Given the description of an element on the screen output the (x, y) to click on. 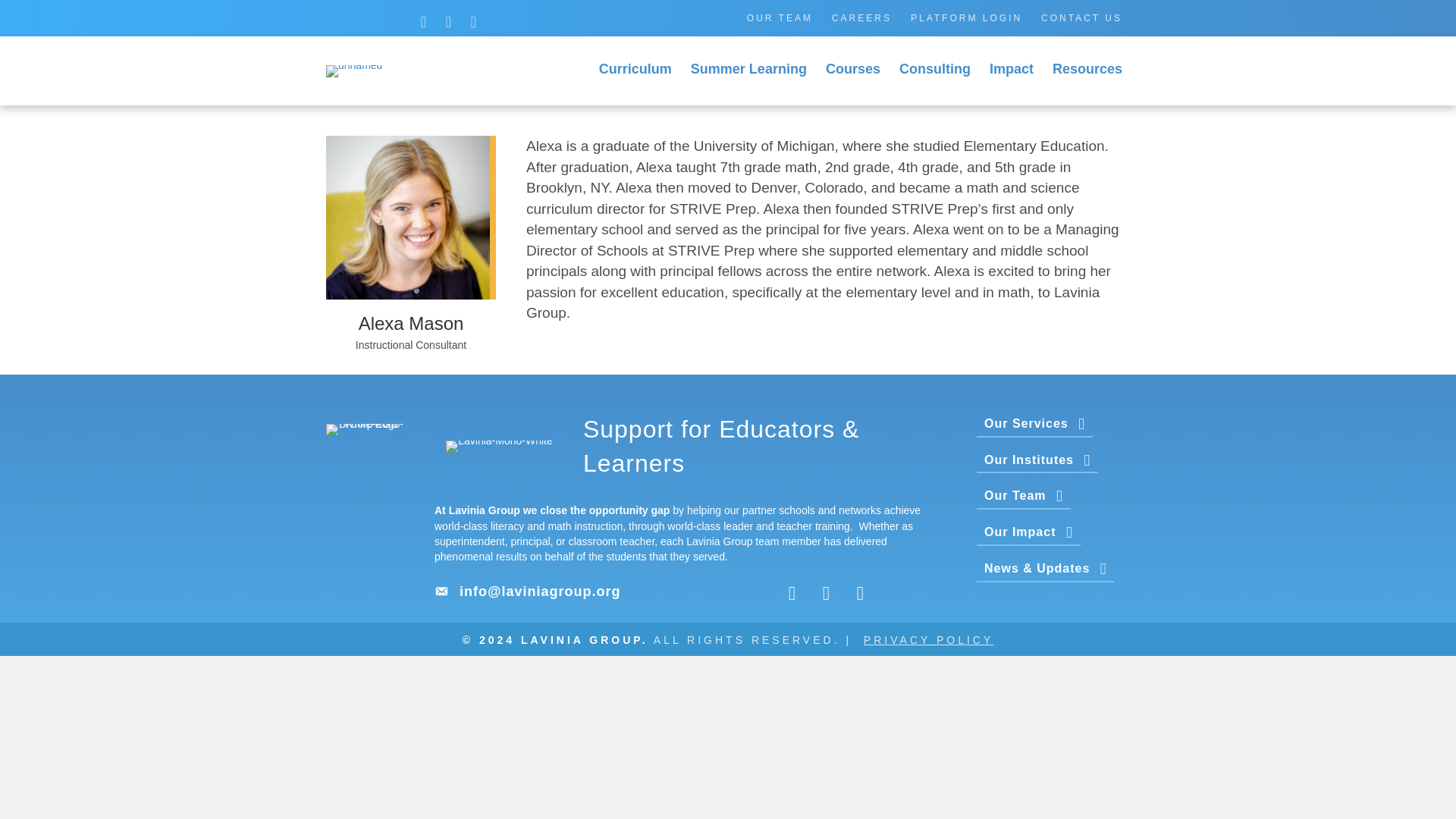
Curriculum (635, 70)
OUR TEAM (780, 17)
PLATFORM LOGIN (965, 17)
CAREERS (861, 17)
Summer Learning (747, 70)
LinkedIn (473, 21)
Twitter (422, 21)
Lavinia-Mono-White (499, 446)
Courses (853, 70)
CONTACT US (1081, 17)
